Given the description of an element on the screen output the (x, y) to click on. 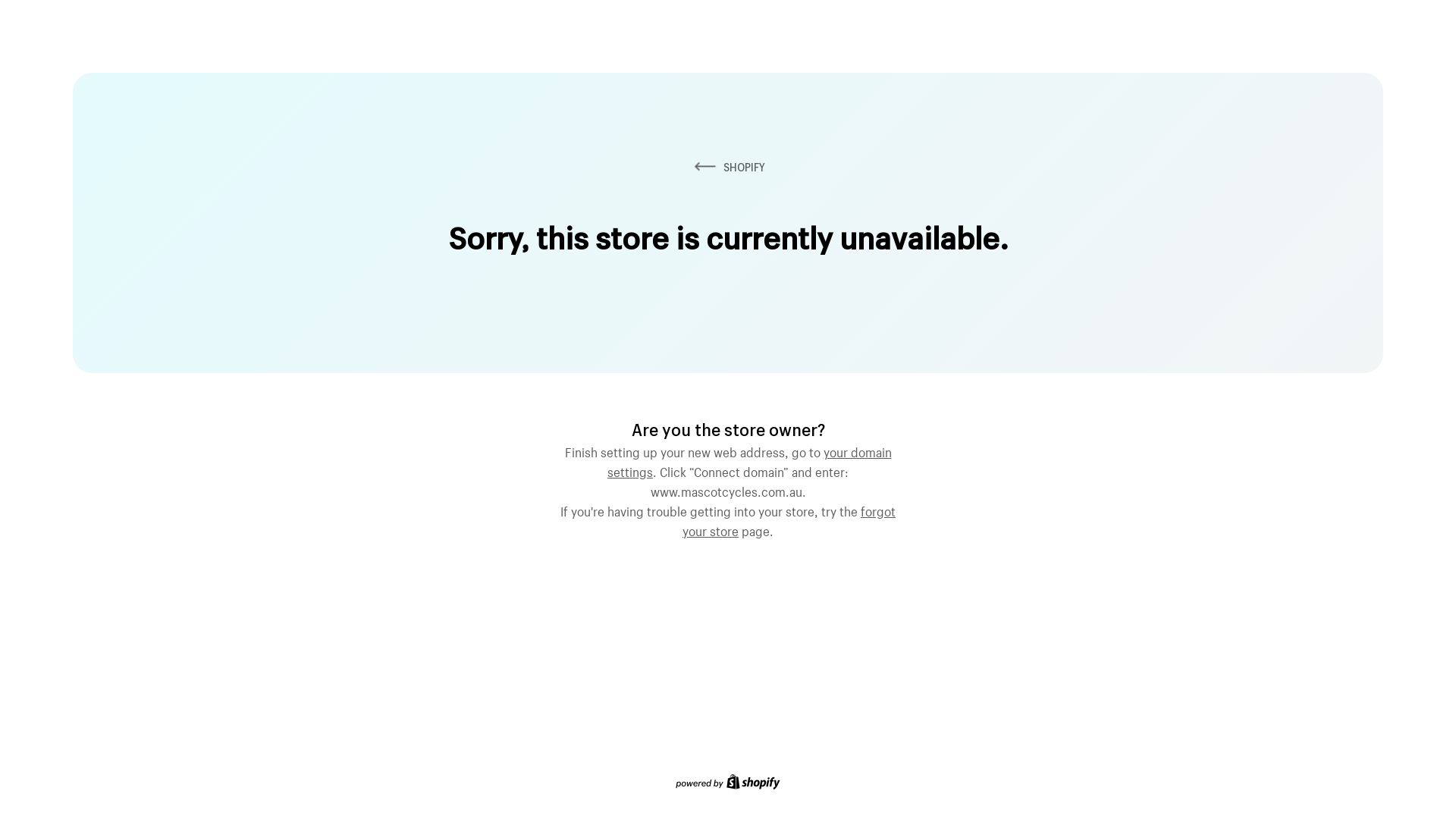
SHOPIFY Element type: text (727, 167)
forgot your store Element type: text (788, 519)
your domain settings Element type: text (749, 460)
